Given the description of an element on the screen output the (x, y) to click on. 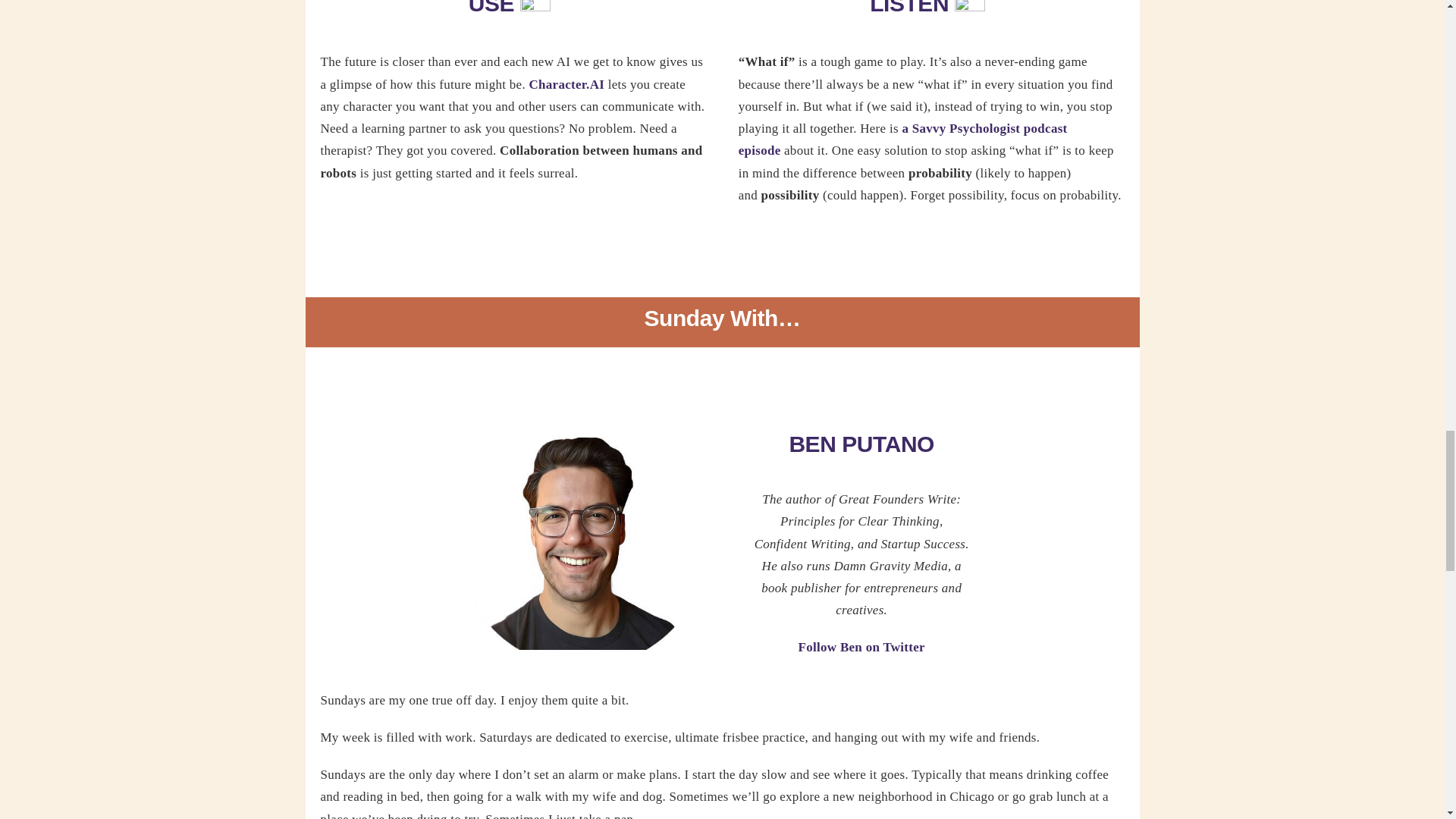
Follow Ben on Twitter (860, 646)
a Savvy Psychologist podcast episode (902, 139)
BEN-PUTANO (582, 541)
Character.AI (567, 83)
